Given the description of an element on the screen output the (x, y) to click on. 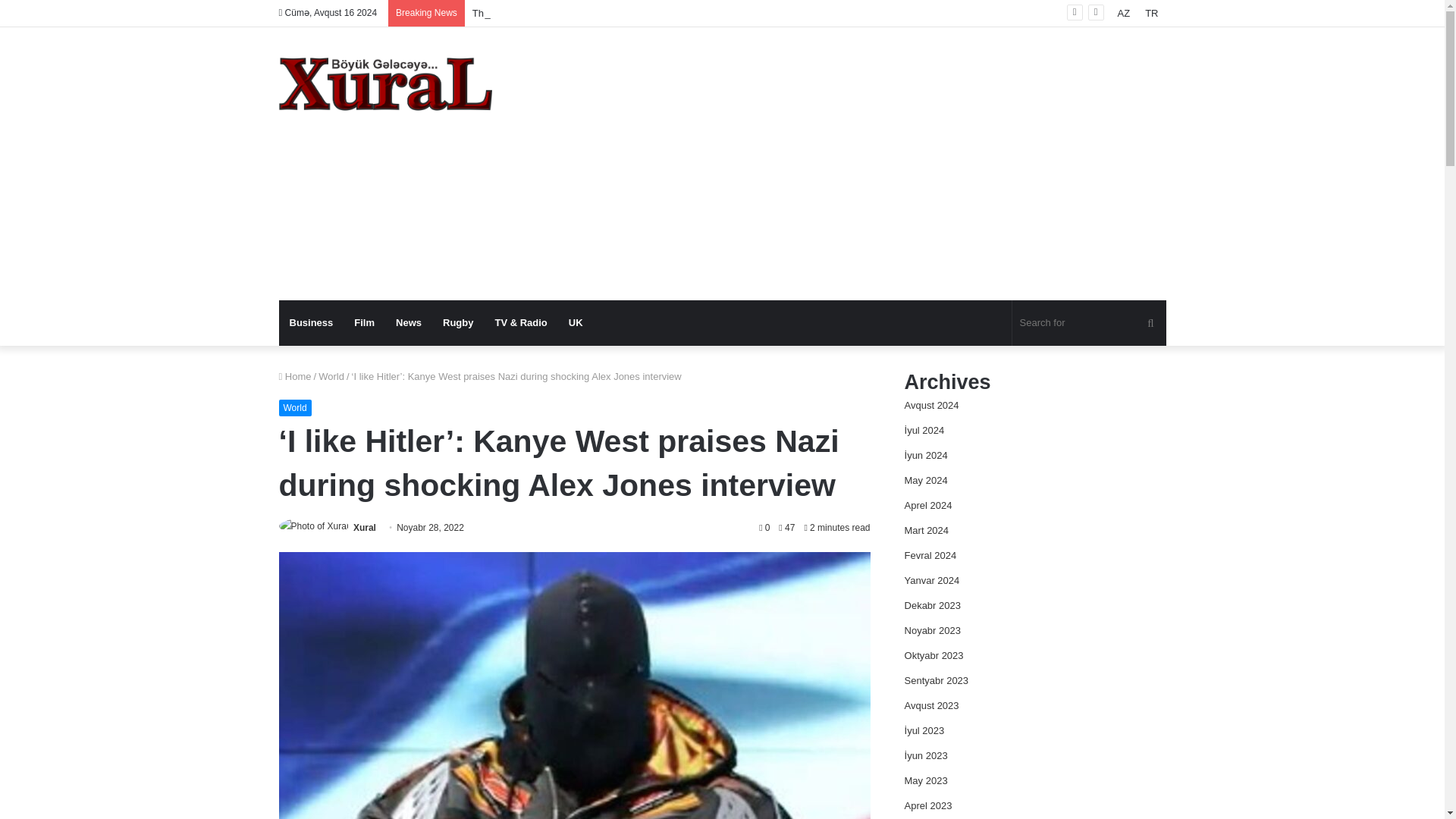
TR (1151, 13)
World (295, 407)
News (408, 322)
Home (295, 376)
AZ (1123, 13)
Xural (385, 83)
Xural (364, 527)
Xural (364, 527)
World (330, 376)
Search for (1088, 322)
